Given the description of an element on the screen output the (x, y) to click on. 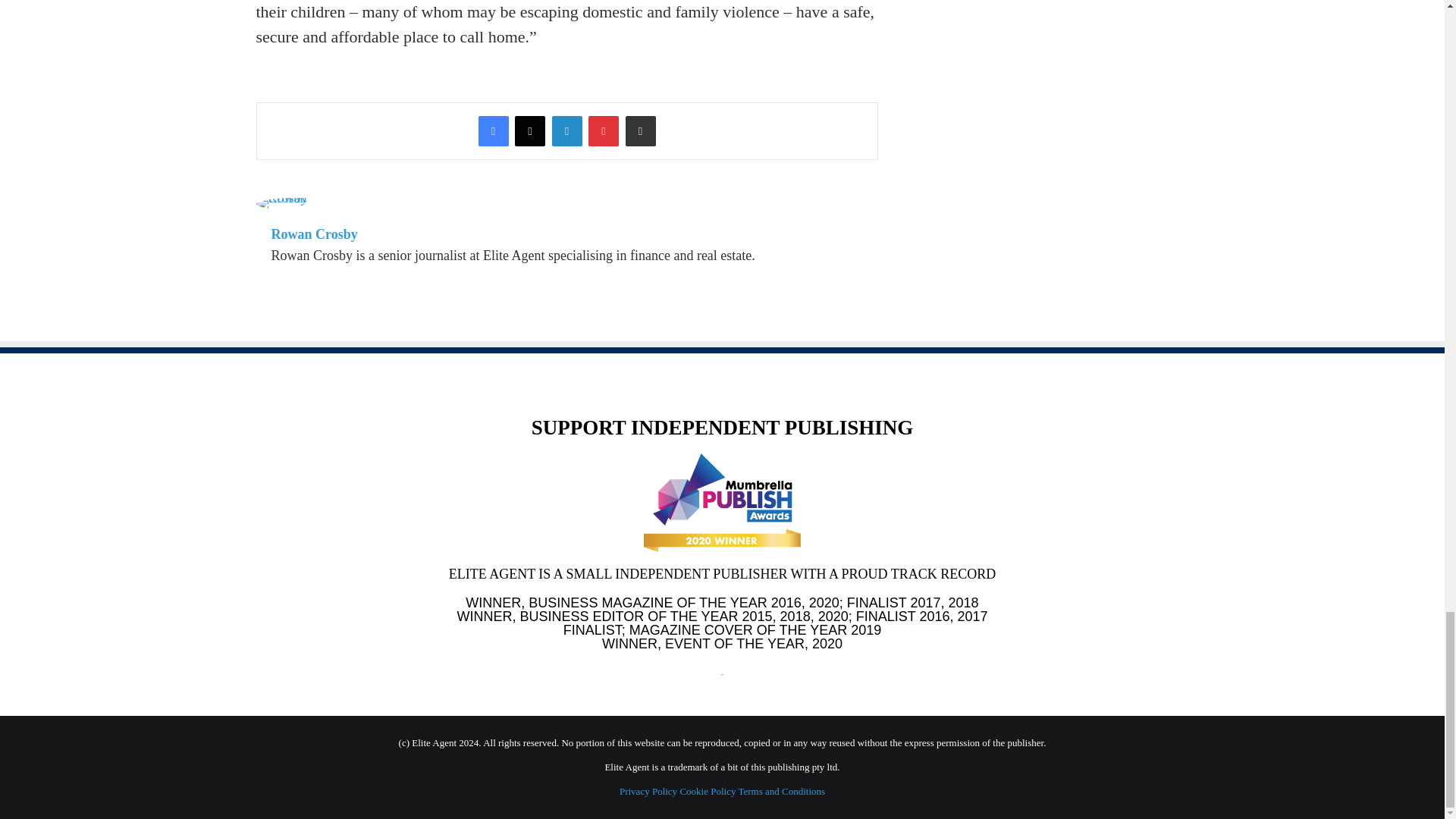
Facebook (492, 131)
